Given the description of an element on the screen output the (x, y) to click on. 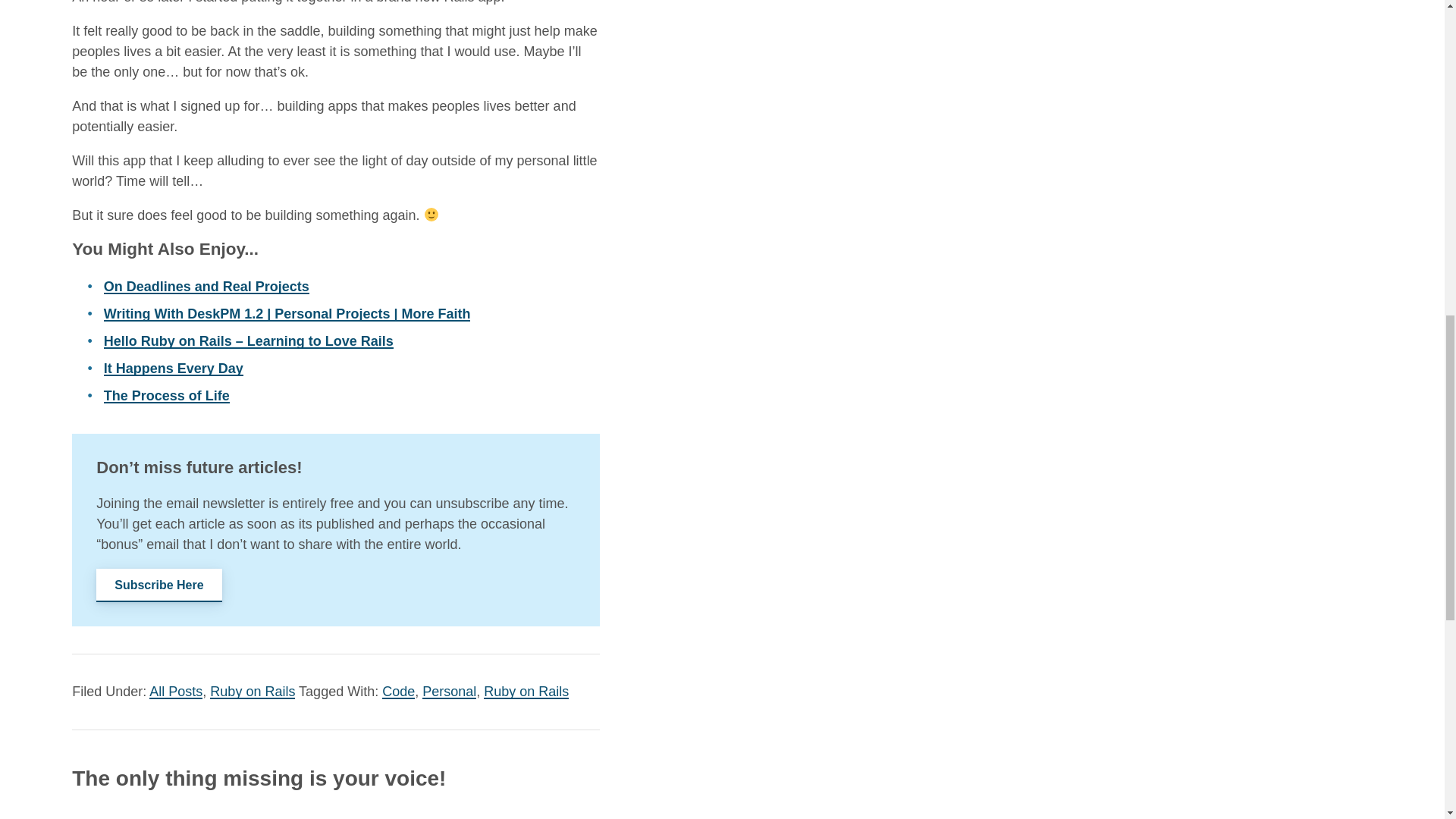
All Posts (175, 691)
Comment Form (335, 810)
It Happens Every Day (173, 368)
Subscribe Here (158, 584)
On Deadlines and Real Projects (205, 286)
Personal (449, 691)
On Deadlines and Real Projects (205, 286)
The Process of Life (166, 395)
The Process of Life (166, 395)
Ruby on Rails (252, 691)
It Happens Every Day (173, 368)
Ruby on Rails (526, 691)
Code (397, 691)
